Given the description of an element on the screen output the (x, y) to click on. 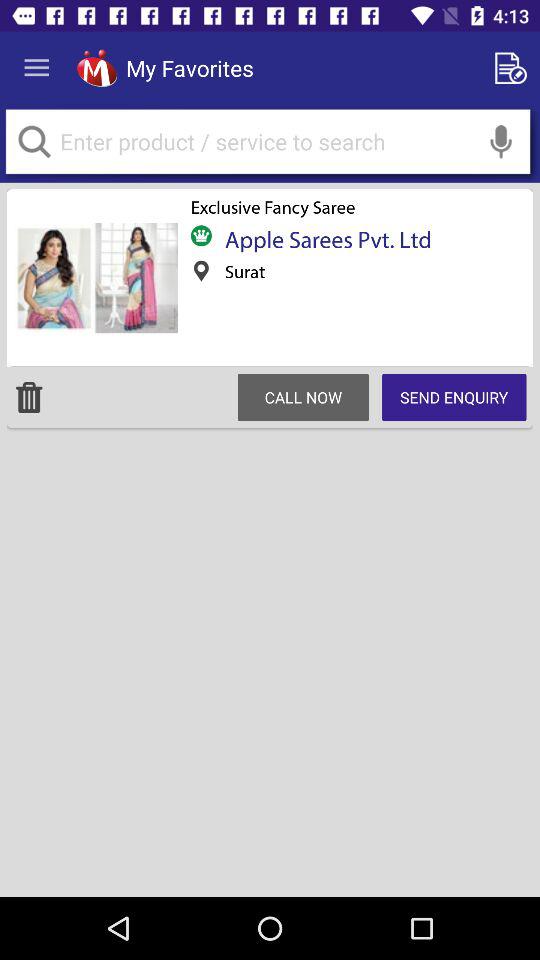
click on the image (95, 278)
